Given the description of an element on the screen output the (x, y) to click on. 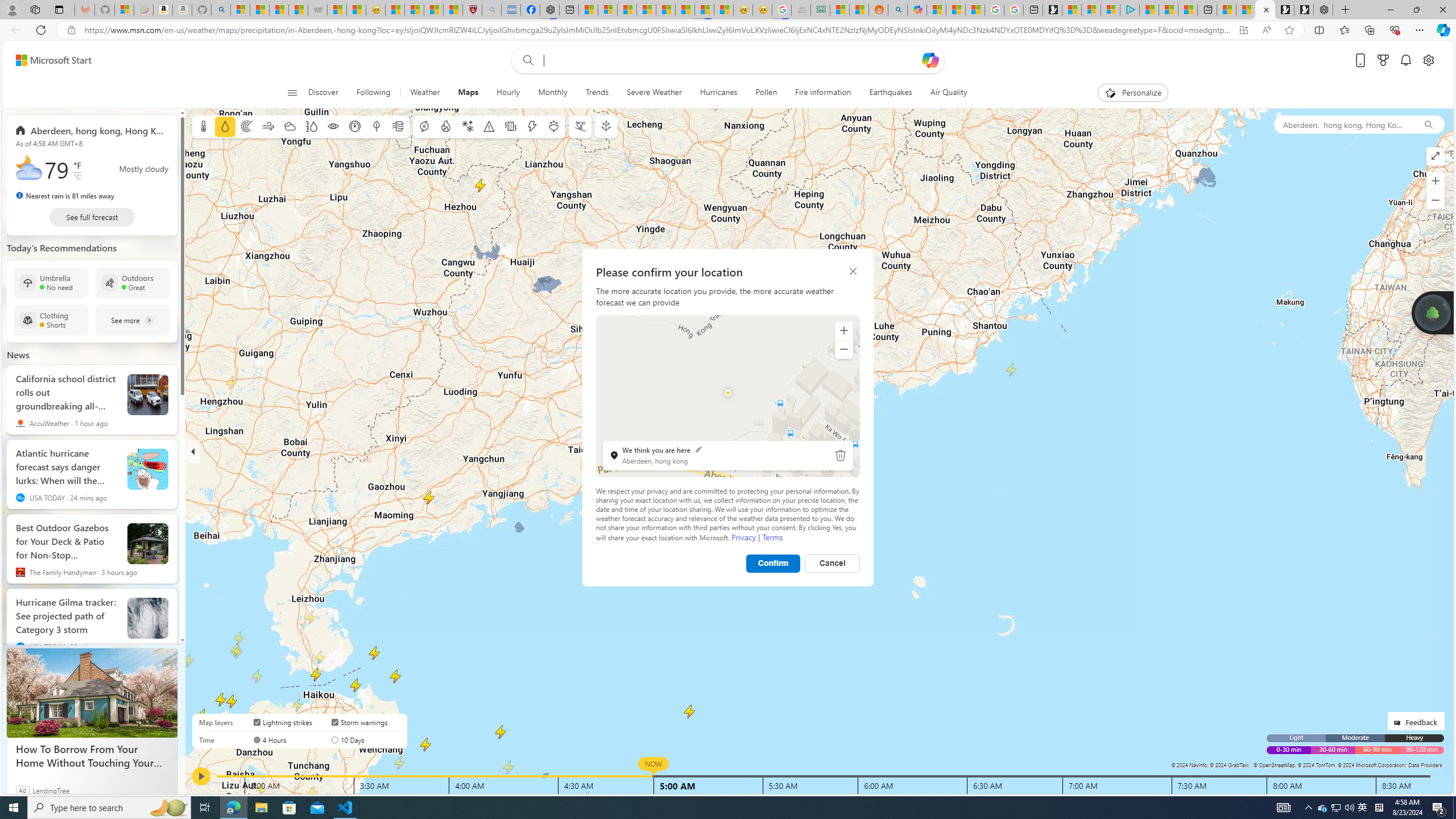
Play Free Online Games | Games from Microsoft Start (1303, 9)
Data Providers (1424, 765)
Open navigation menu (292, 92)
Pollen (766, 92)
Recipes - MSN (394, 9)
USA TODAY (20, 646)
MSN (704, 9)
Maps (468, 92)
